Given the description of an element on the screen output the (x, y) to click on. 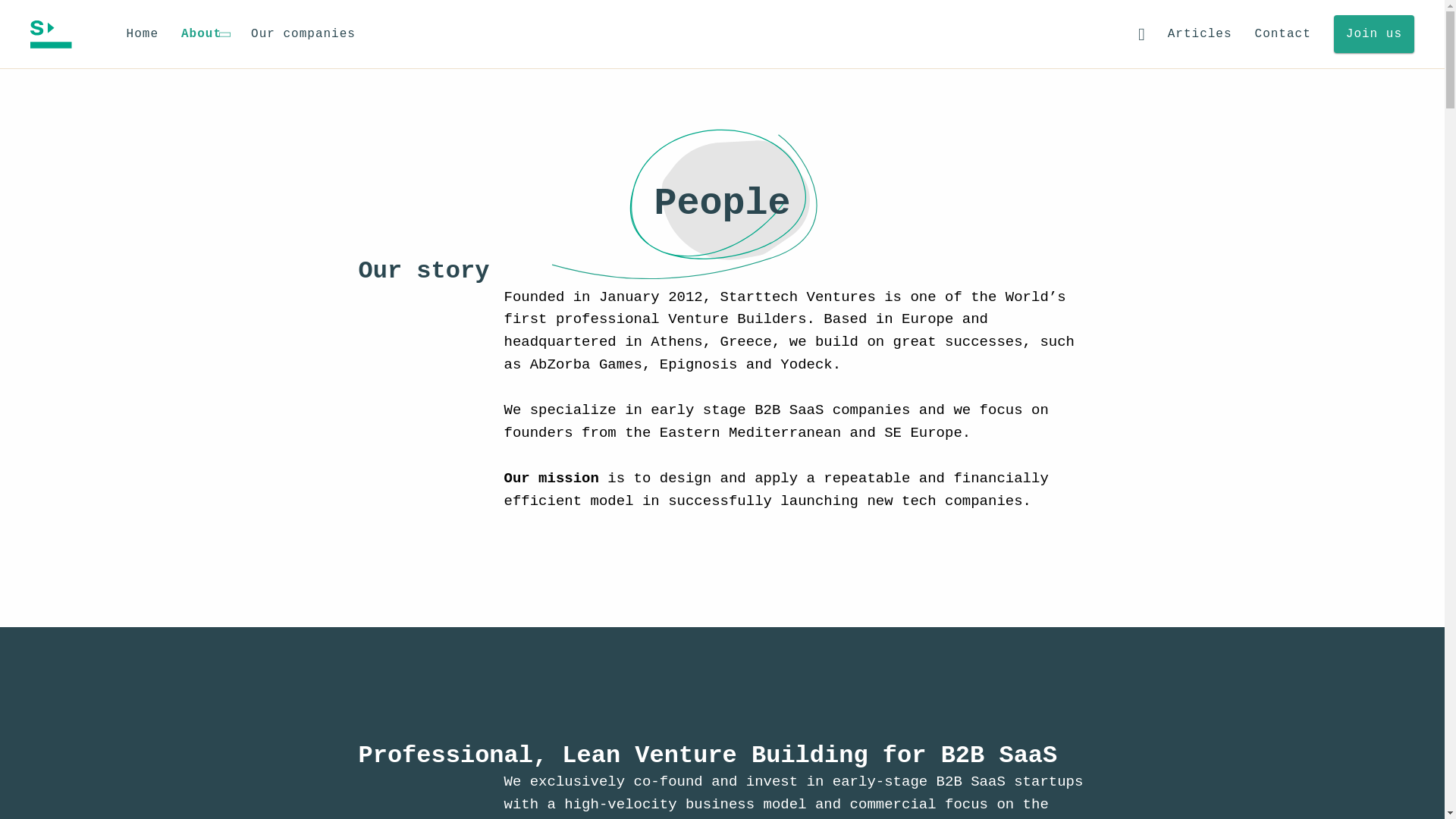
Starttech Ventures (50, 33)
About (204, 34)
Articles (1199, 34)
Our companies (302, 34)
Home (142, 34)
Join us (1373, 34)
Contact (1283, 34)
